Given the description of an element on the screen output the (x, y) to click on. 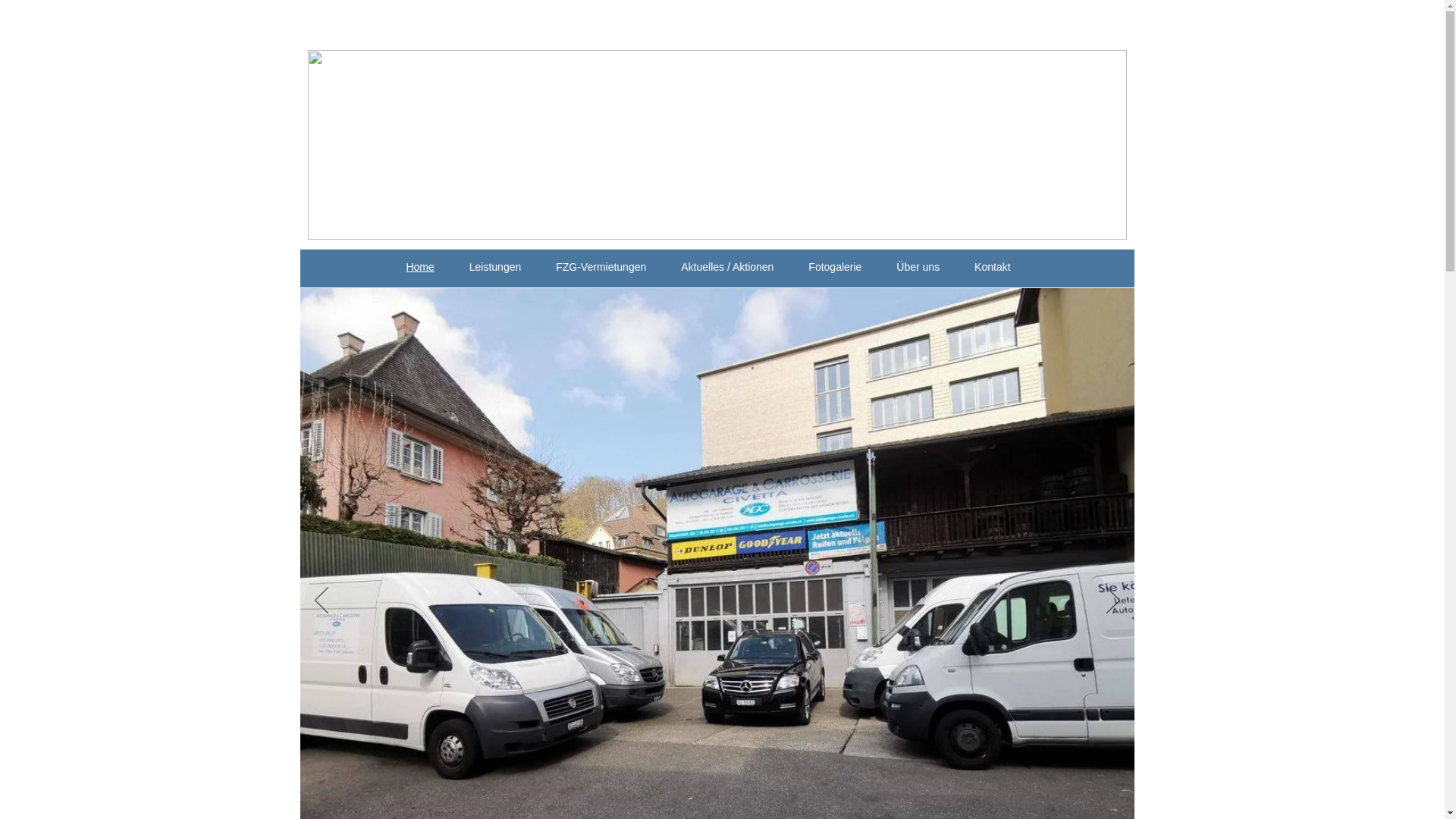
Fotogalerie Element type: text (834, 266)
Leistungen Element type: text (494, 266)
Kontakt Element type: text (992, 266)
Home Element type: text (419, 266)
FZG-Vermietungen Element type: text (600, 266)
Aktuelles / Aktionen Element type: text (726, 266)
